Given the description of an element on the screen output the (x, y) to click on. 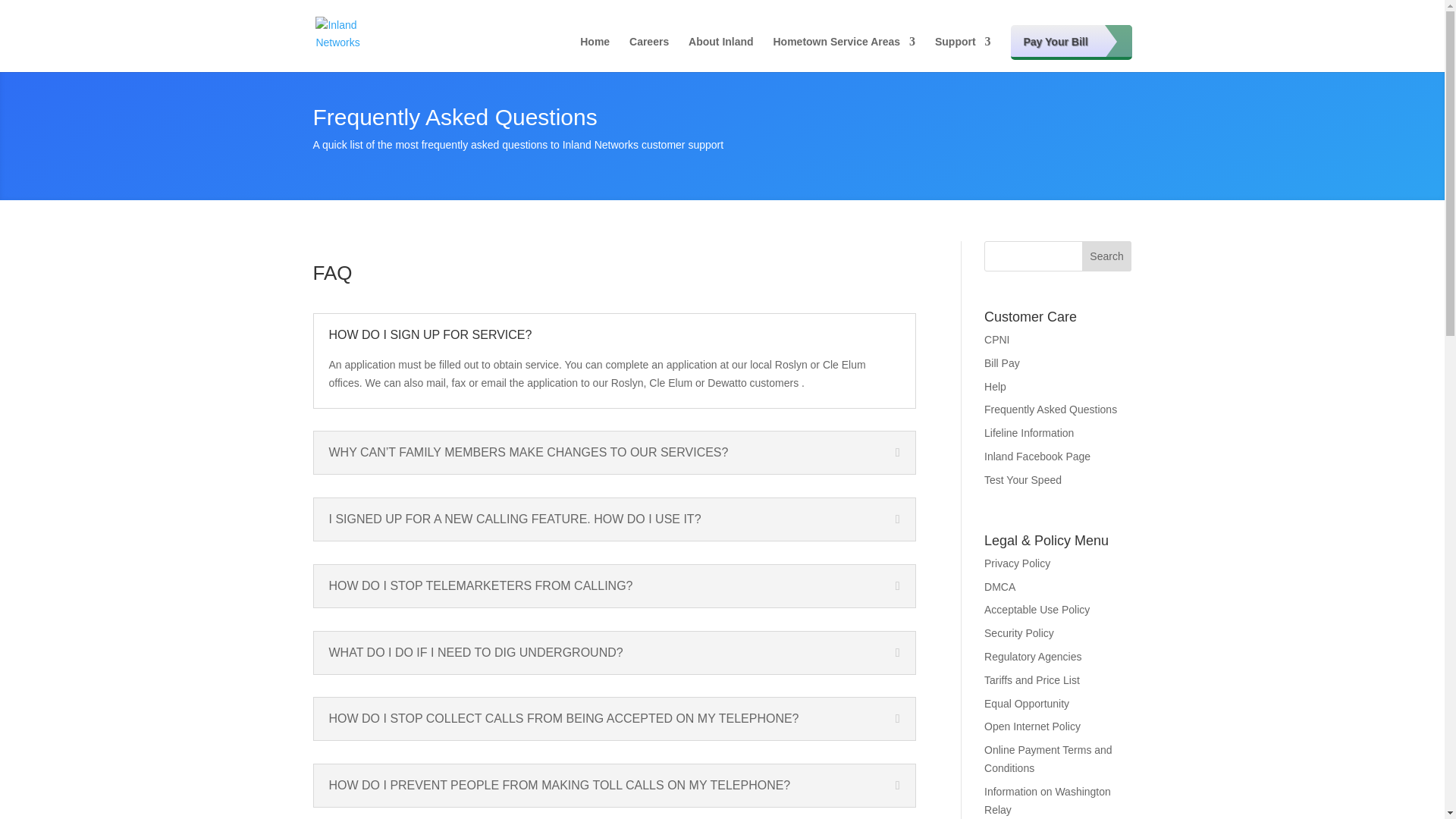
Test Your Speed (1022, 480)
CPNI (996, 339)
Security Policy (1019, 633)
Open Internet Policy (1032, 726)
Acceptable Use Policy (1036, 609)
Tariffs and Price List (1032, 680)
About Inland (721, 54)
Careers (648, 54)
DMCA (999, 586)
Information on Washington Relay (1047, 800)
Lifeline Information (1029, 432)
Privacy Policy (1016, 563)
Equal Opportunity (1026, 703)
Support (962, 54)
Search (1106, 255)
